Given the description of an element on the screen output the (x, y) to click on. 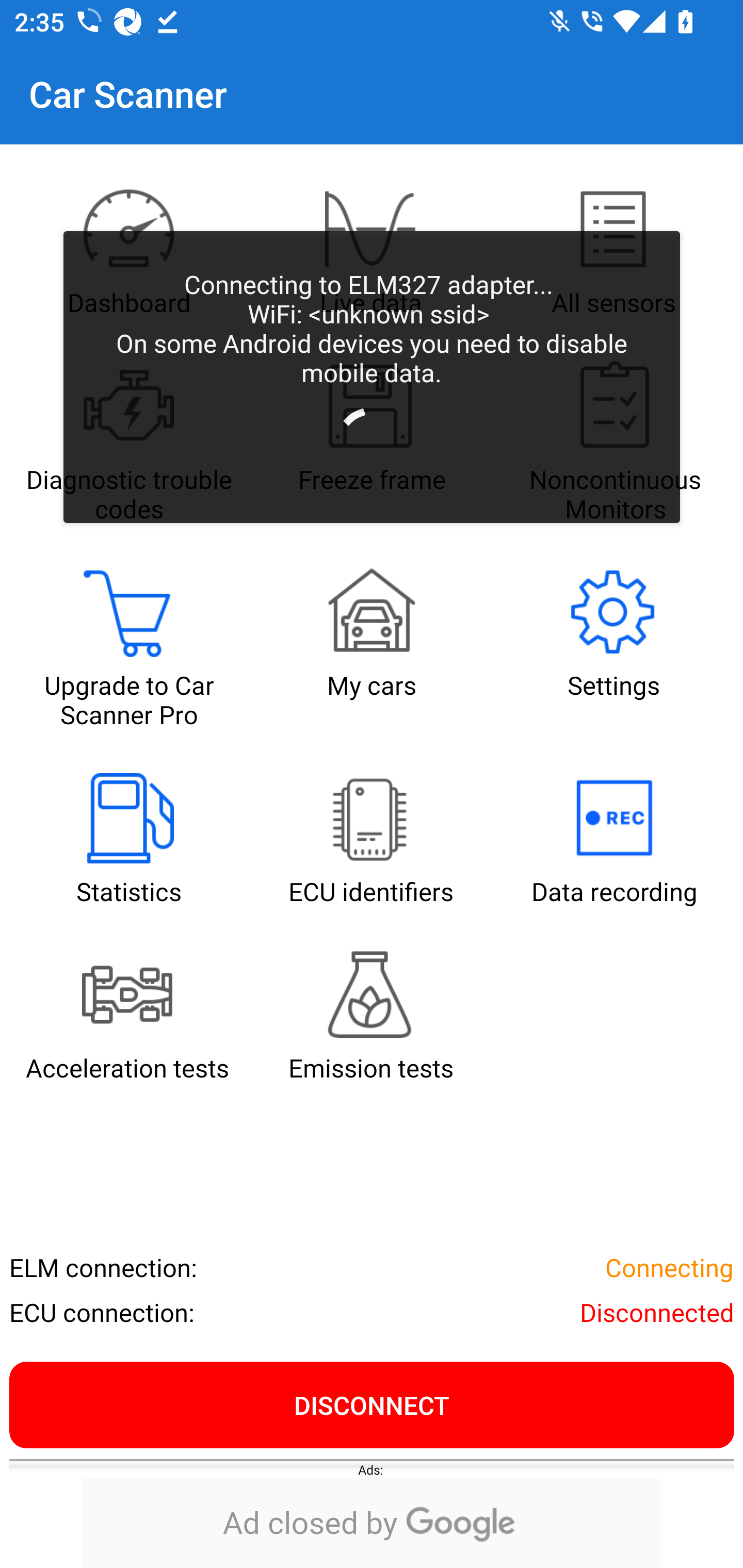
DISCONNECT (371, 1404)
